Given the description of an element on the screen output the (x, y) to click on. 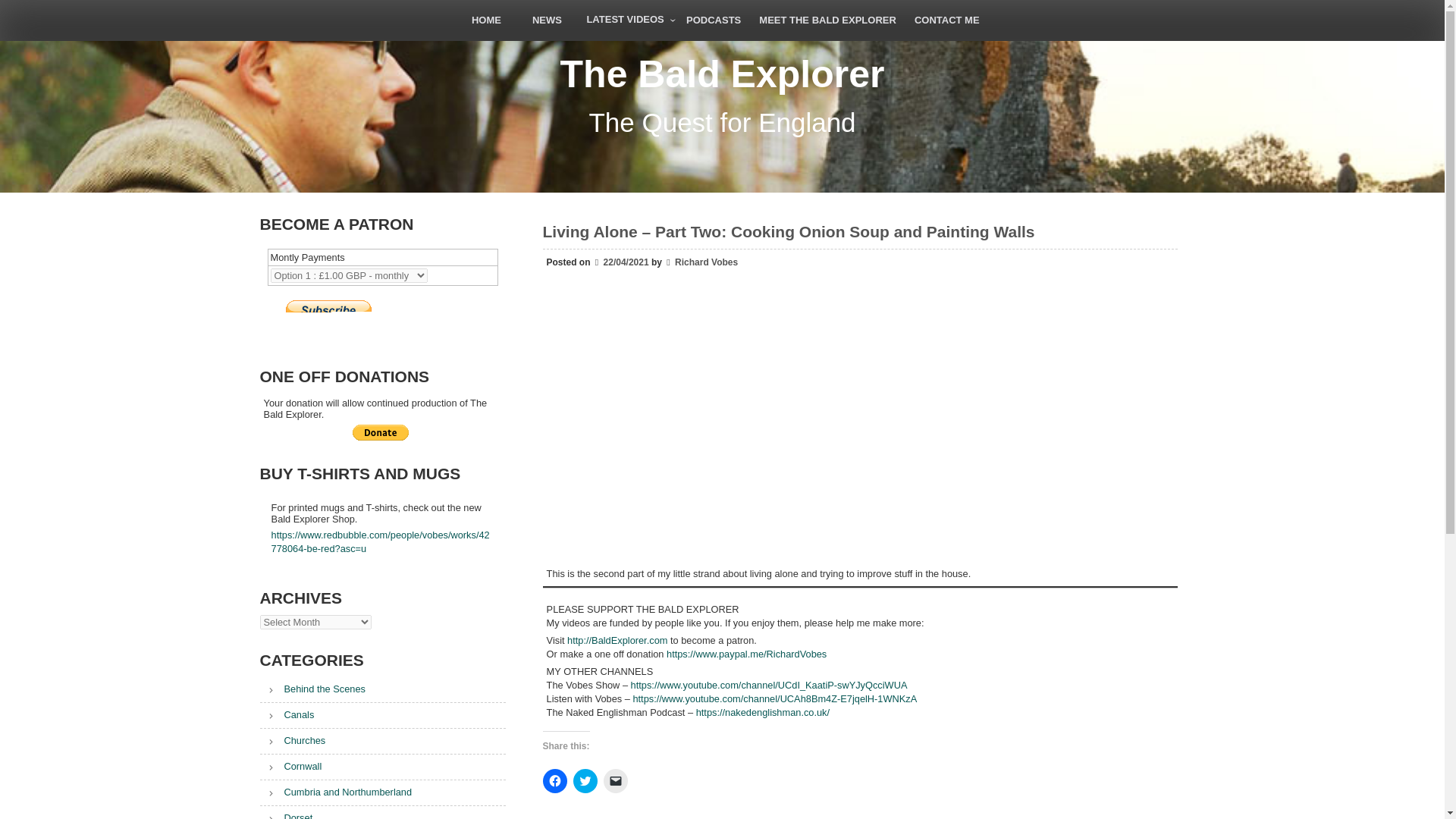
Click to share on Facebook (555, 781)
Churches (291, 740)
The Bald Explorer (722, 74)
Cumbria and Northumberland (335, 791)
Dorset (286, 815)
Click to share on Twitter (584, 781)
PODCASTS (713, 20)
LATEST VIDEOS (626, 20)
HOME (485, 20)
Click to email a link to a friend (615, 781)
